Given the description of an element on the screen output the (x, y) to click on. 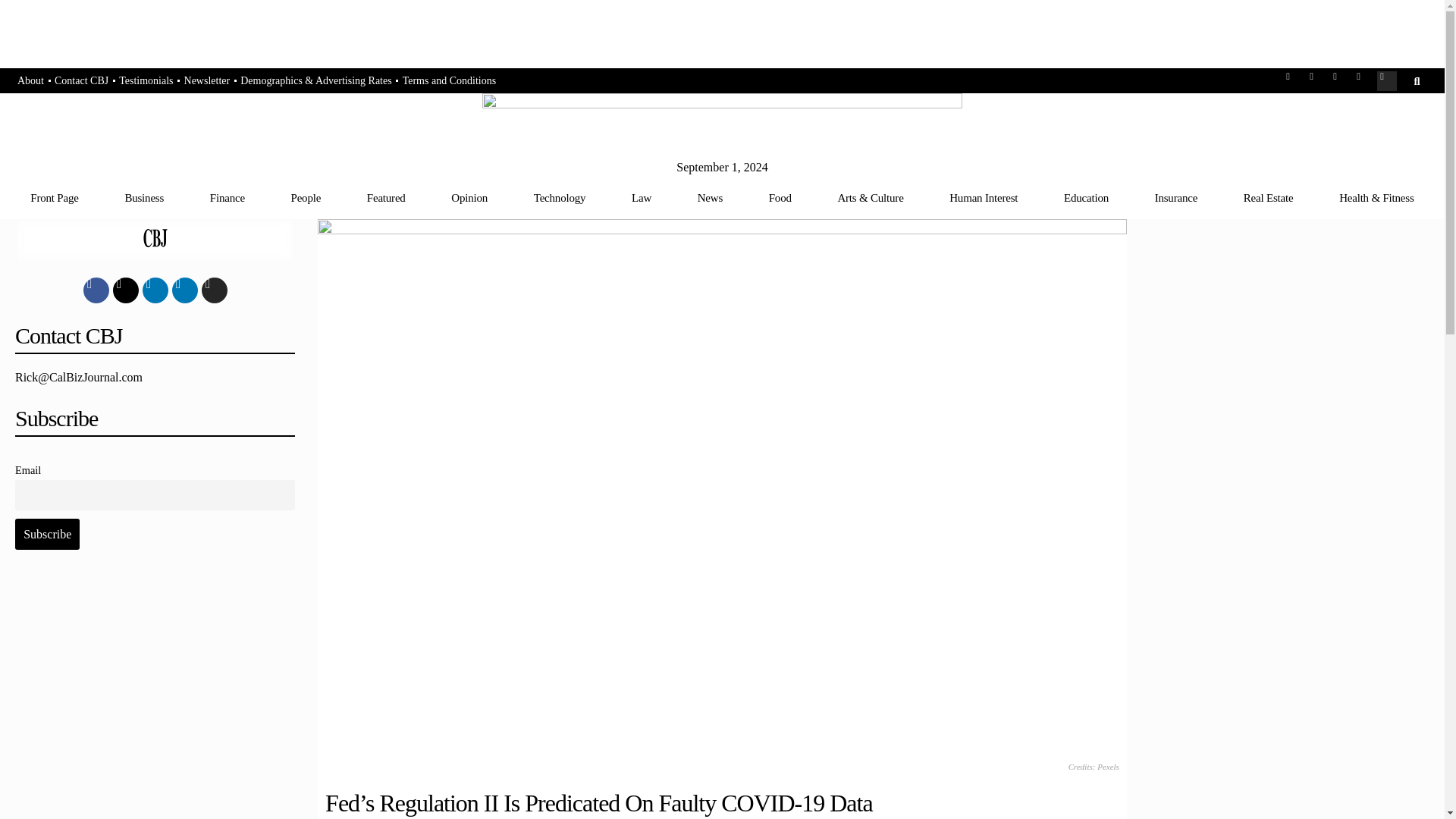
Contact CBJ (81, 81)
People (305, 197)
Newsletter (207, 81)
Human Interest (983, 197)
Subscribe (47, 533)
Business (143, 197)
News (709, 197)
Testimonials (145, 81)
Real Estate (1268, 197)
Technology (559, 197)
